Given the description of an element on the screen output the (x, y) to click on. 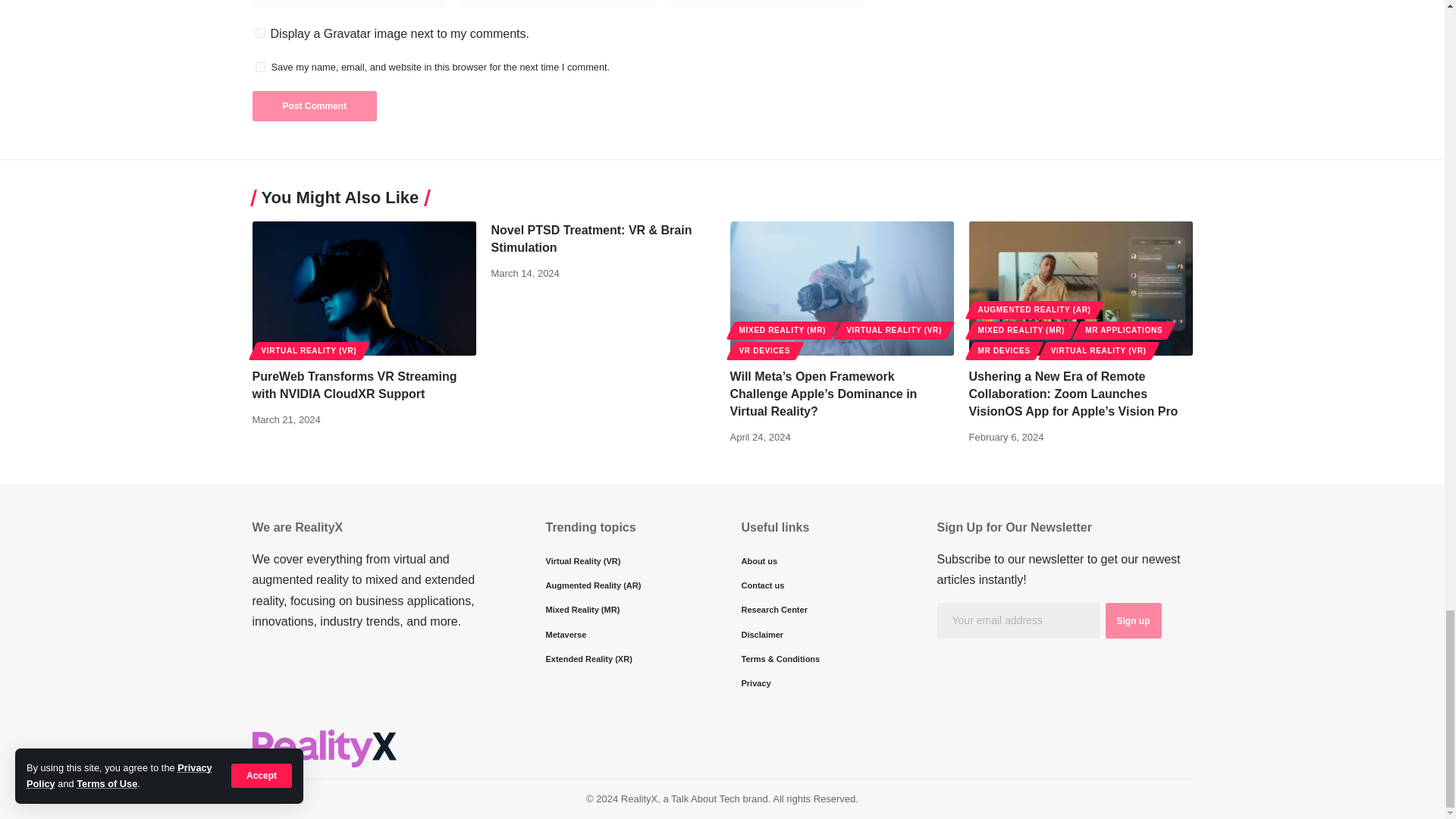
Sign up (1133, 620)
PureWeb Transforms VR Streaming with NVIDIA CloudXR Support (363, 288)
Post Comment (314, 105)
Reality X (323, 748)
true (259, 32)
yes (259, 67)
